Given the description of an element on the screen output the (x, y) to click on. 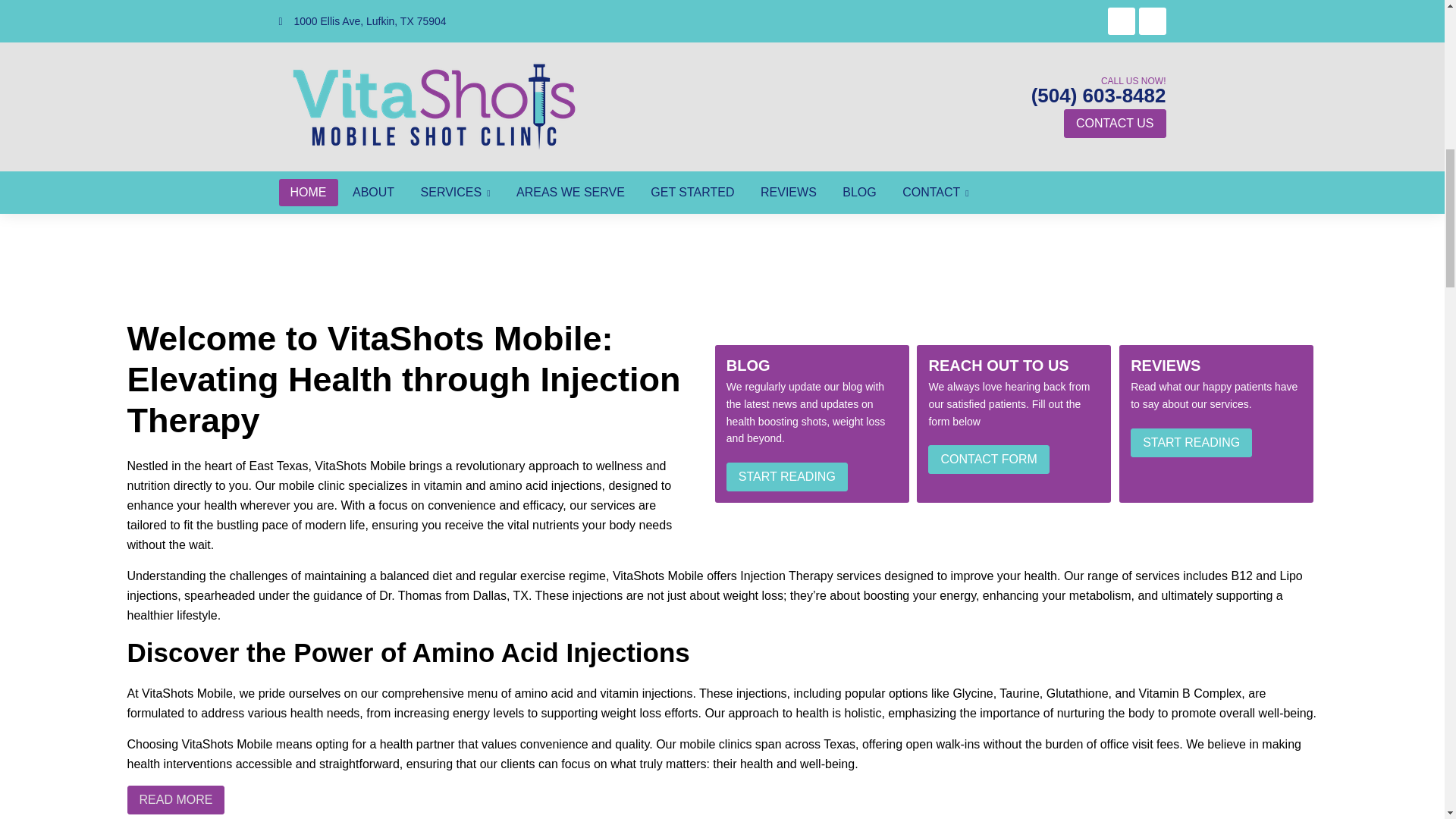
START READING (1191, 441)
START READING (786, 476)
READ MORE (176, 799)
CONTACT FORM (988, 459)
